Given the description of an element on the screen output the (x, y) to click on. 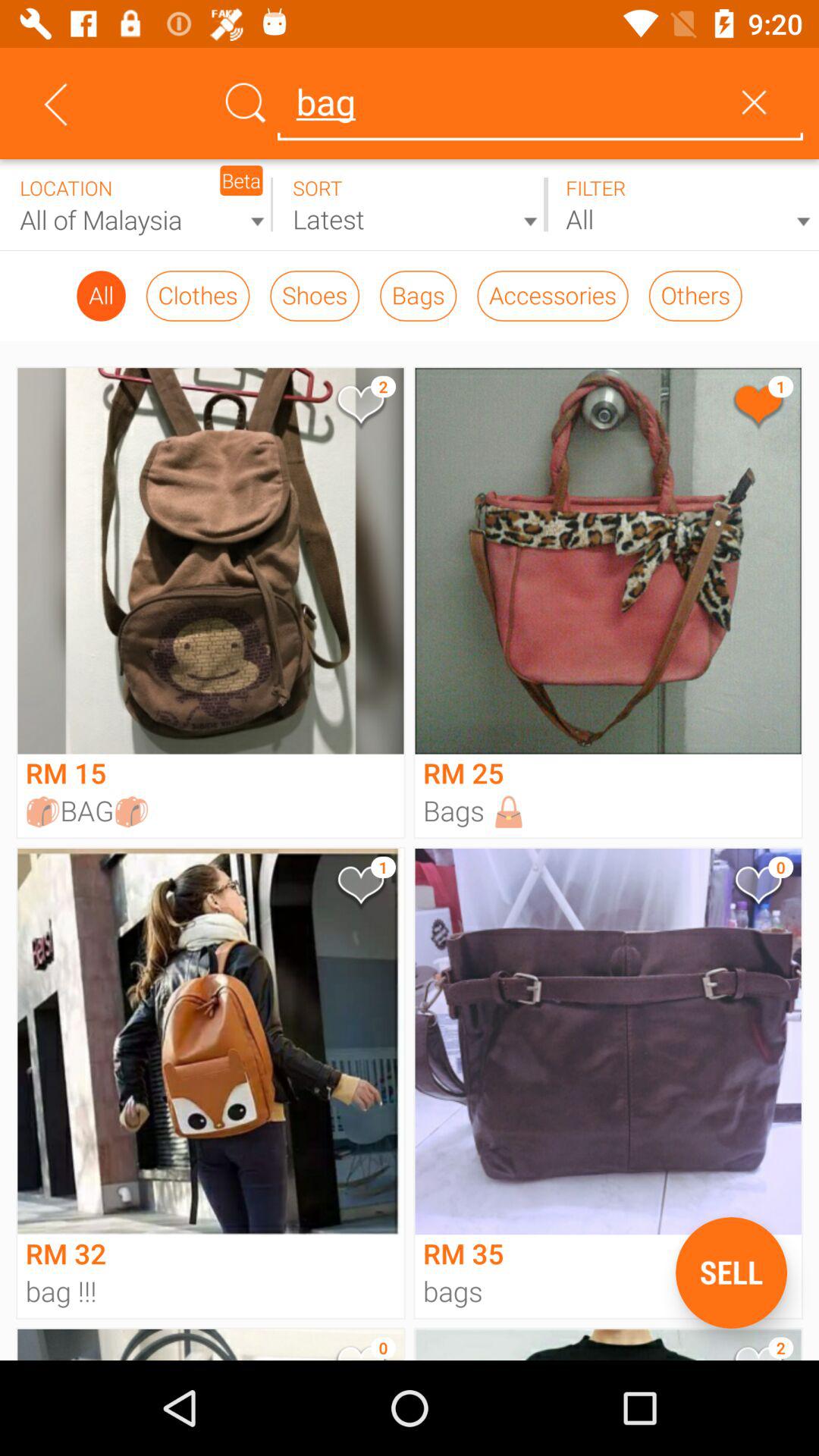
favorite this item (757, 888)
